Given the description of an element on the screen output the (x, y) to click on. 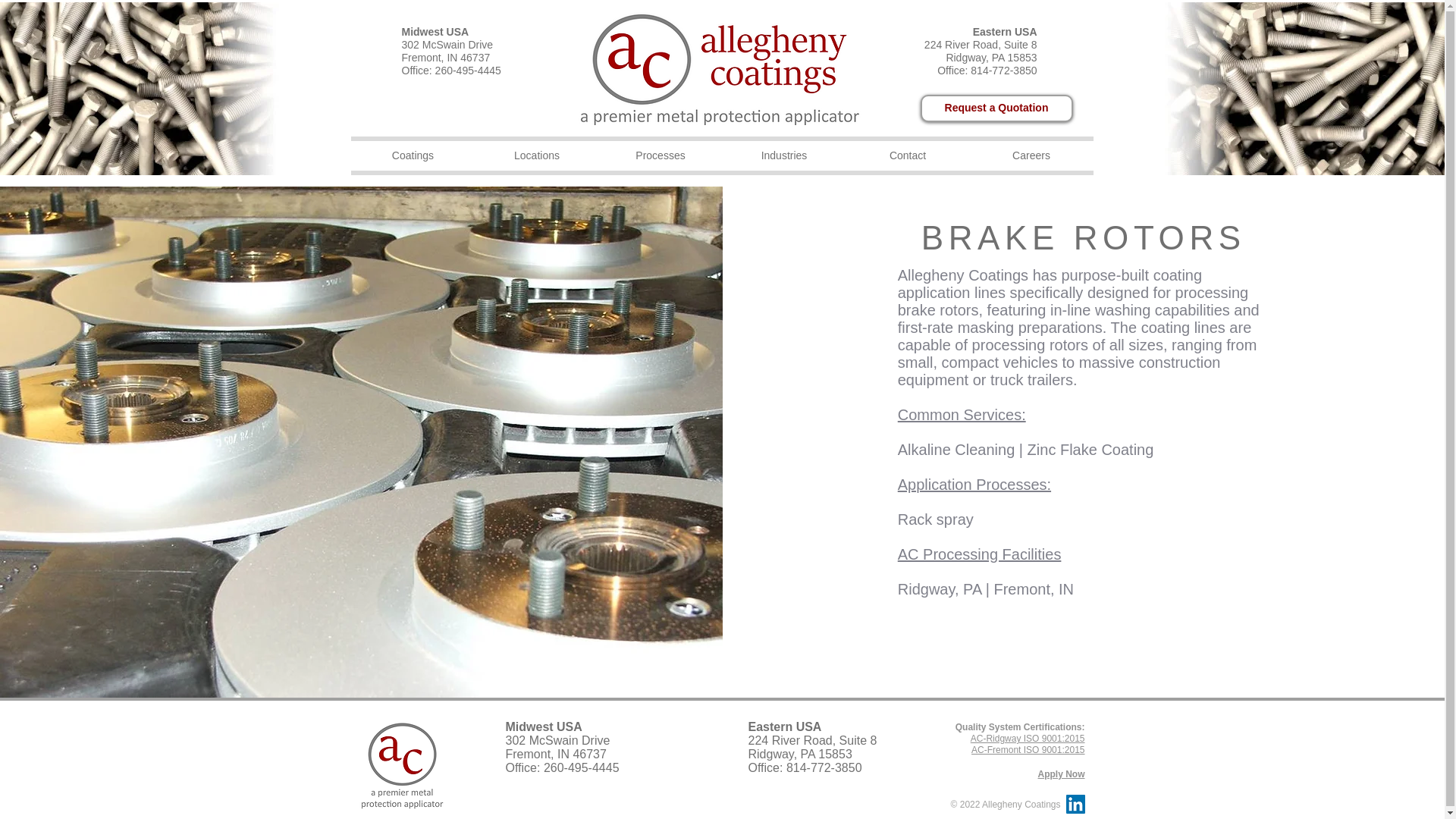
Locations (536, 155)
AC-Fremont ISO 9001:2015 (1027, 749)
Apply Now (1060, 774)
Request a Quotation (996, 108)
Contact (907, 155)
Industries (783, 155)
Coatings (412, 155)
Rack spray (936, 519)
Careers (1031, 155)
AC-Ridgway ISO 9001:2015 (1027, 738)
